Given the description of an element on the screen output the (x, y) to click on. 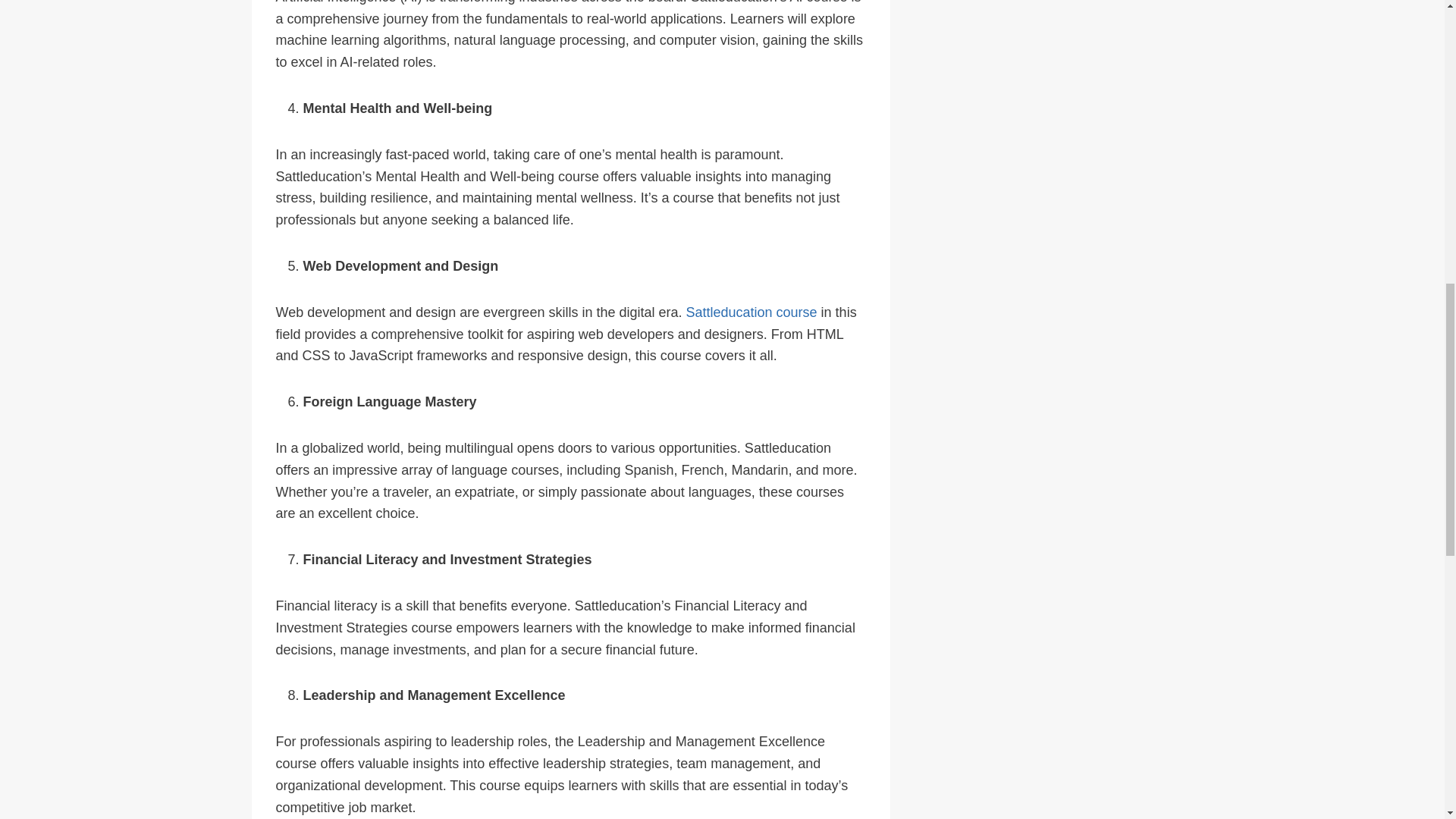
Sattleducation course (753, 312)
